Given the description of an element on the screen output the (x, y) to click on. 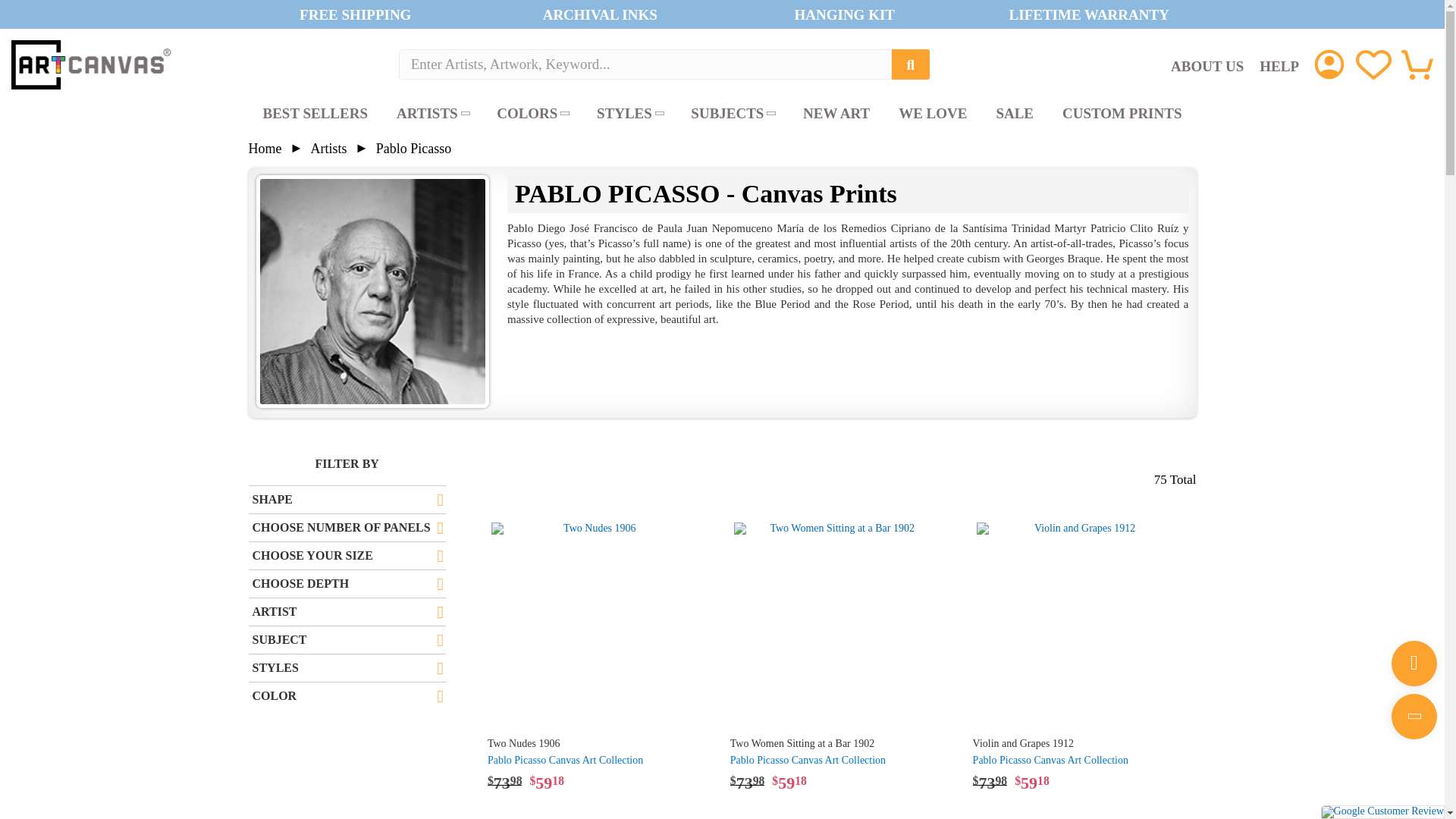
SIGN IN (1329, 64)
ARTISTS (431, 113)
My Cart (1416, 63)
Help (1279, 64)
ABOUT US (1207, 64)
About Us (1207, 64)
Create an Account (1329, 64)
BEST SELLERS (315, 113)
HELP (1279, 64)
